Given the description of an element on the screen output the (x, y) to click on. 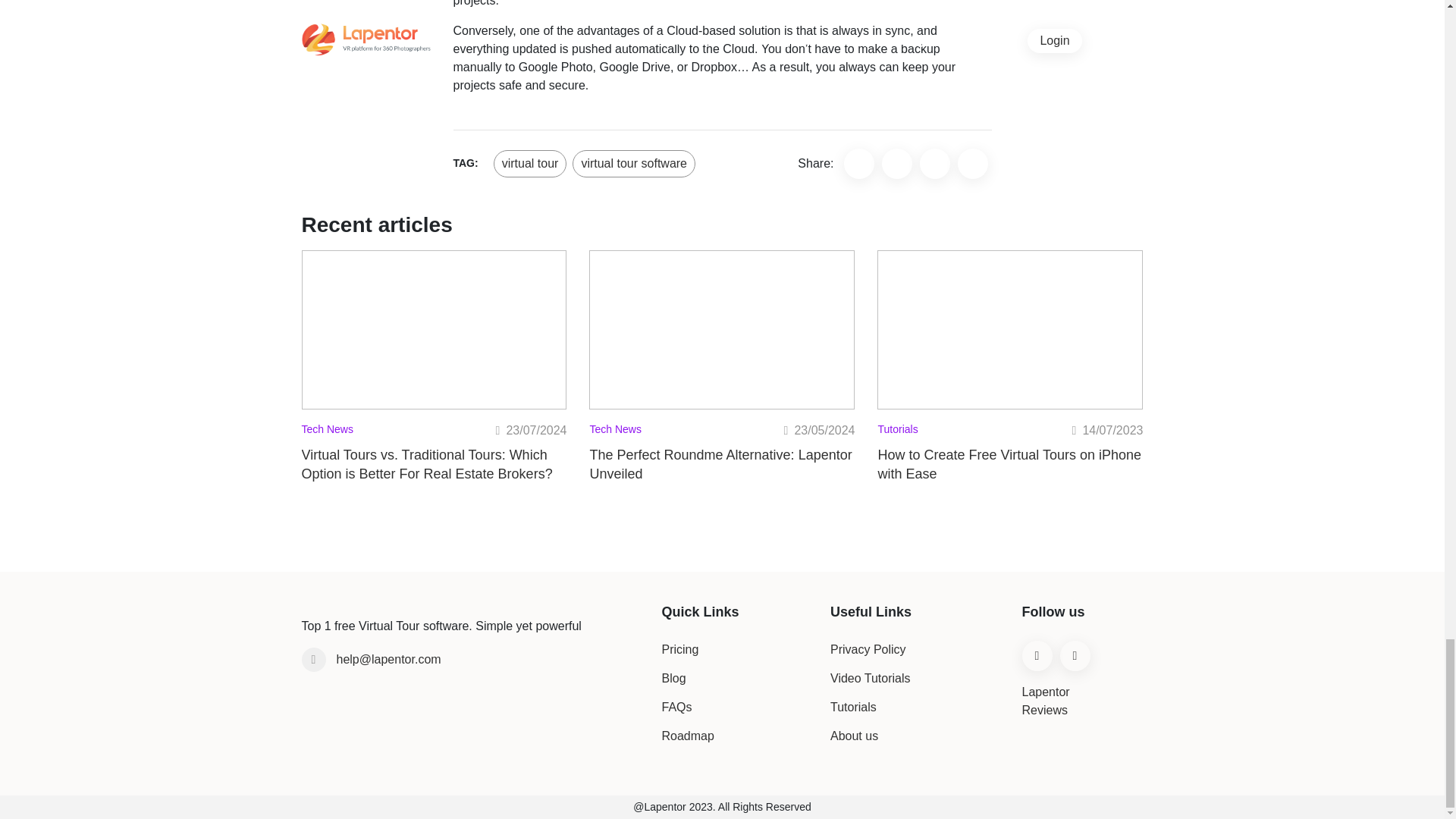
Roadmap (687, 735)
Tech News (619, 430)
FAQs (676, 707)
virtual tour software (633, 163)
The Perfect Roundme Alternative: Lapentor Unveiled (721, 464)
Tech News (331, 430)
Tutorials (901, 430)
virtual tour (530, 163)
How to Create Free Virtual Tours on iPhone with Ease (1009, 464)
